Given the description of an element on the screen output the (x, y) to click on. 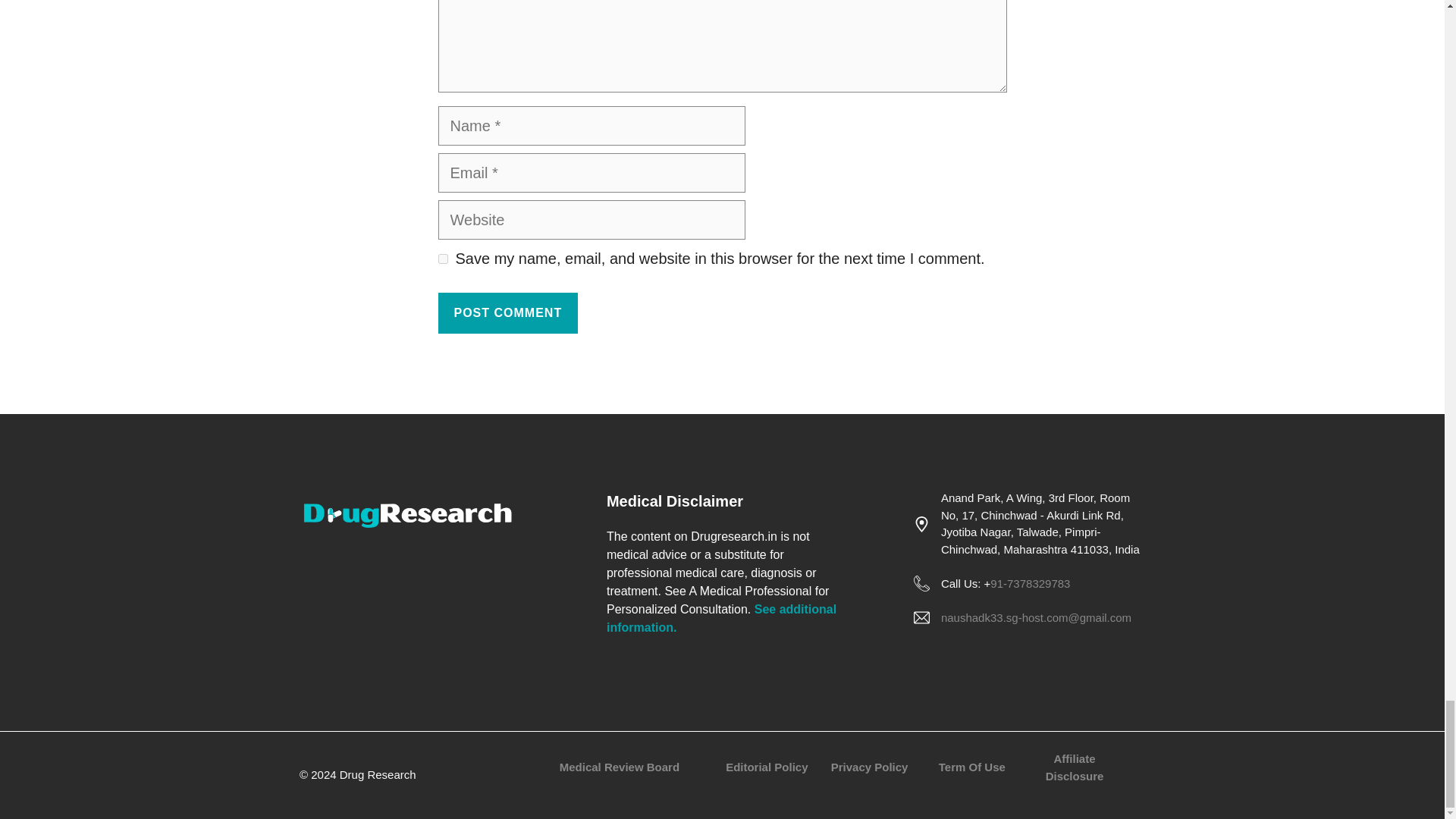
Post Comment (508, 312)
yes (443, 258)
Affiliate Disclosure (1074, 767)
Medical Review Board (619, 766)
Post Comment (508, 312)
Editorial Policy (766, 766)
Privacy Policy (869, 766)
Term Of Use (972, 766)
See additional information. (721, 617)
91-7378329783 (1030, 583)
